Given the description of an element on the screen output the (x, y) to click on. 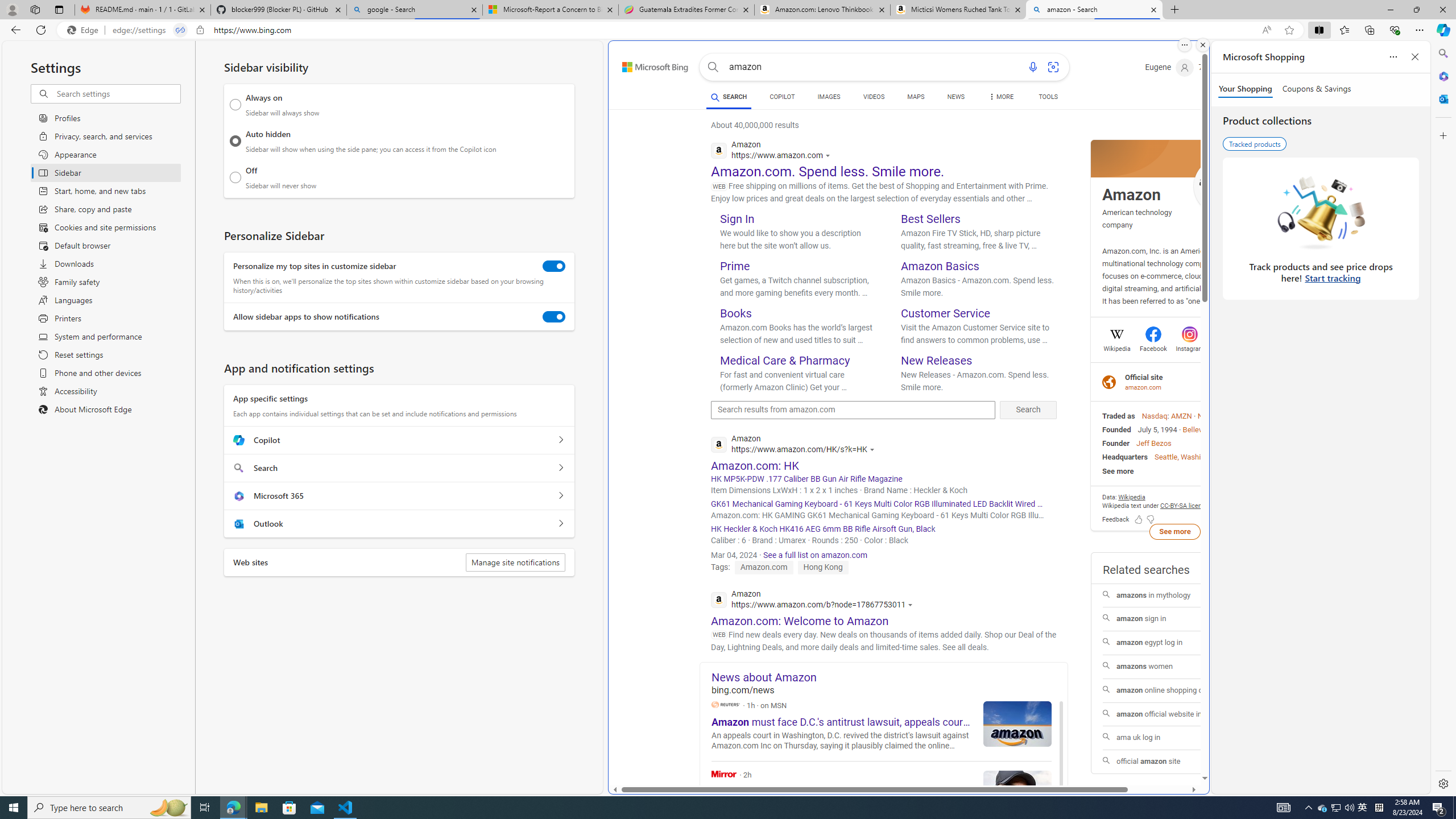
ama uk log in (1174, 738)
VIDEOS (873, 96)
Tags: Amazon.com Hong Kong (779, 567)
NEWS (955, 96)
Actions for this site (911, 604)
CC-BY-SA license (1184, 505)
Customer Service (945, 313)
SEARCH (728, 96)
See more images of Amazon (1221, 185)
Always on Sidebar will always show (235, 104)
HK MP5K-PDW .177 Caliber BB Gun Air Rifle Magazine (883, 478)
TOOLS (1048, 98)
